Given the description of an element on the screen output the (x, y) to click on. 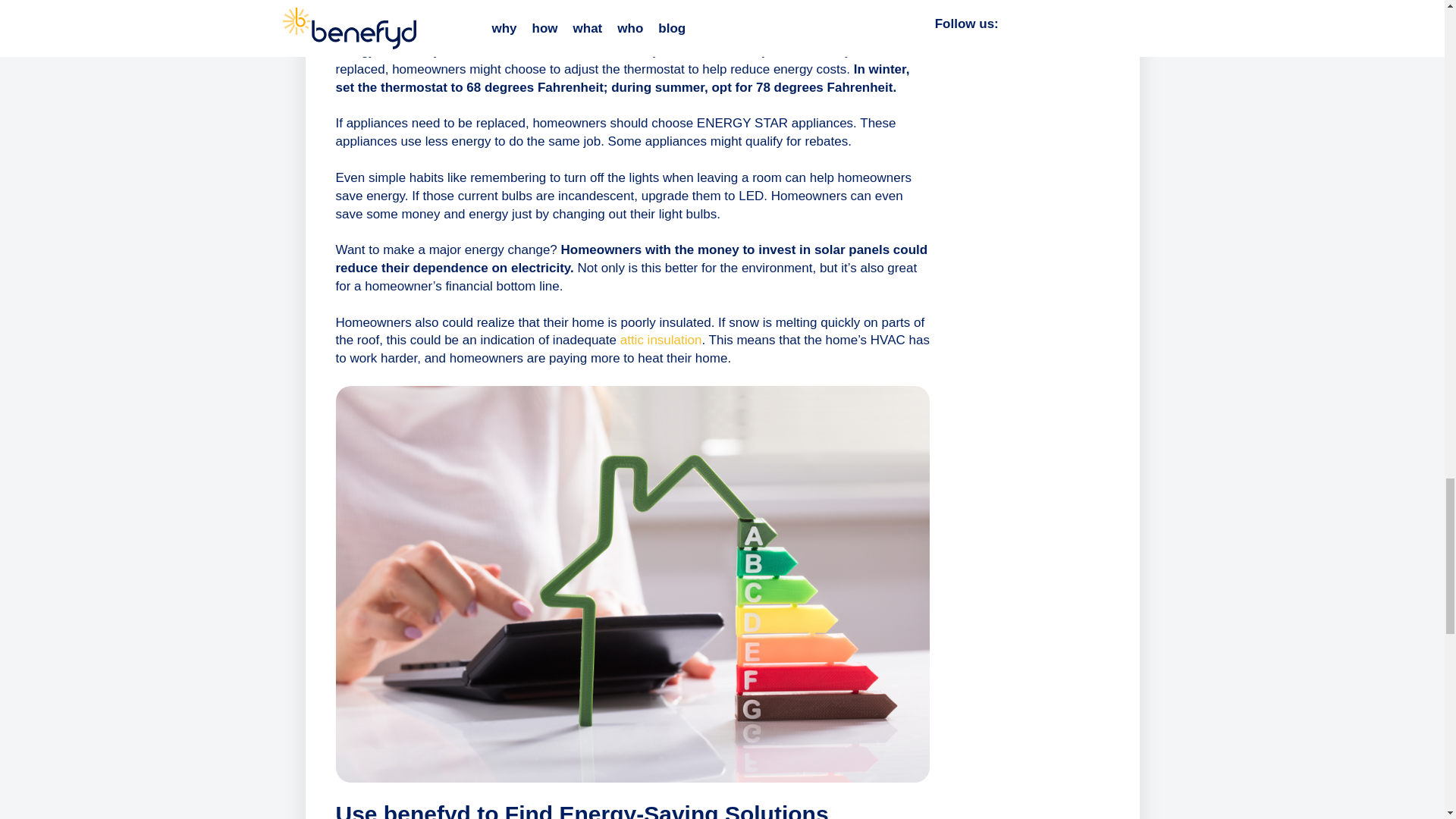
attic insulation (660, 339)
